Given the description of an element on the screen output the (x, y) to click on. 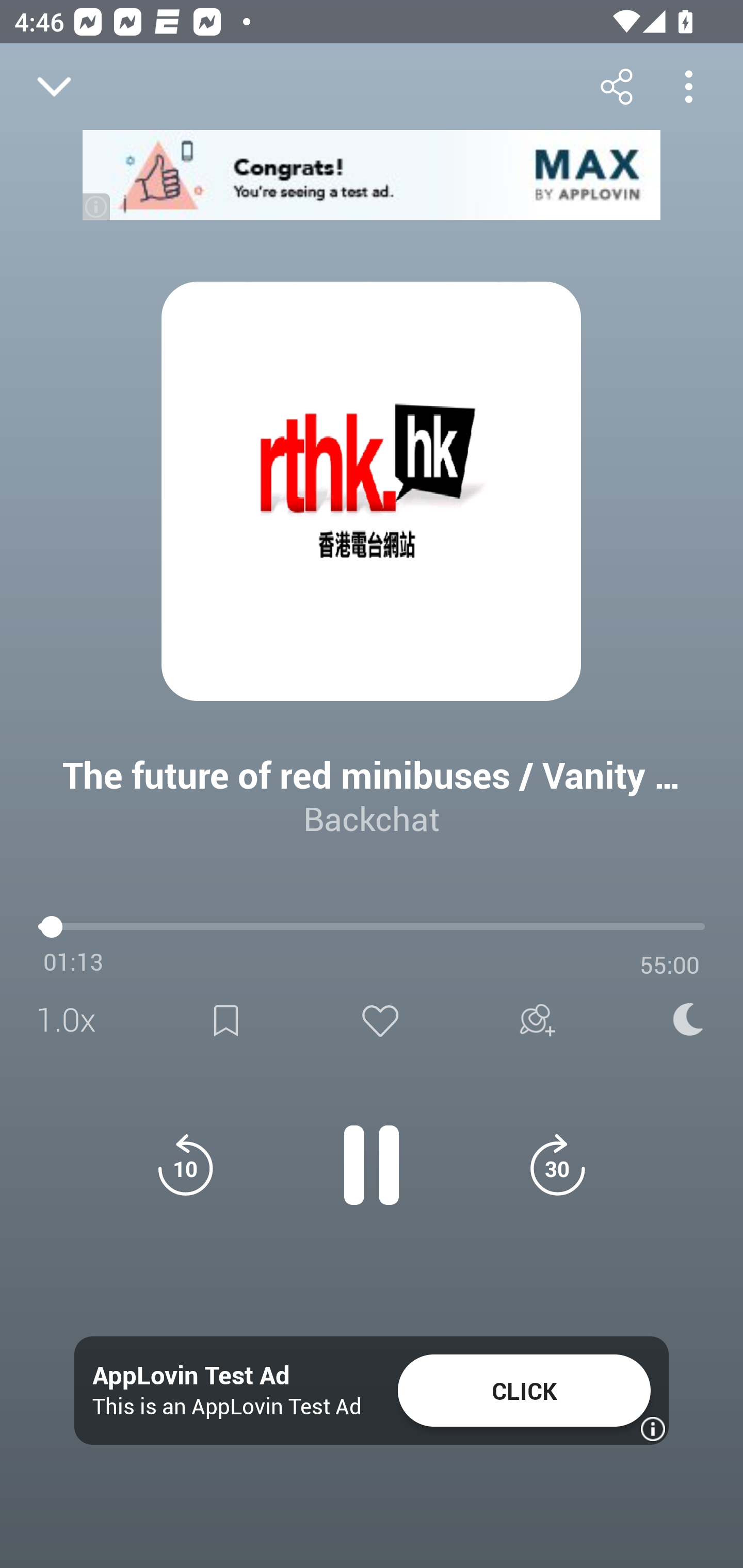
Close fullscreen player (54, 86)
Share (616, 86)
More options (688, 86)
app-monetization (371, 175)
(i) (96, 206)
Backchat (371, 818)
55:00 (669, 964)
1.0x Speed (72, 1020)
Like (380, 1020)
Pause button (371, 1153)
Jump back (185, 1164)
Jump forward (557, 1164)
CLICK (523, 1390)
AppLovin Test Ad (191, 1375)
This is an AppLovin Test Ad (226, 1406)
